Given the description of an element on the screen output the (x, y) to click on. 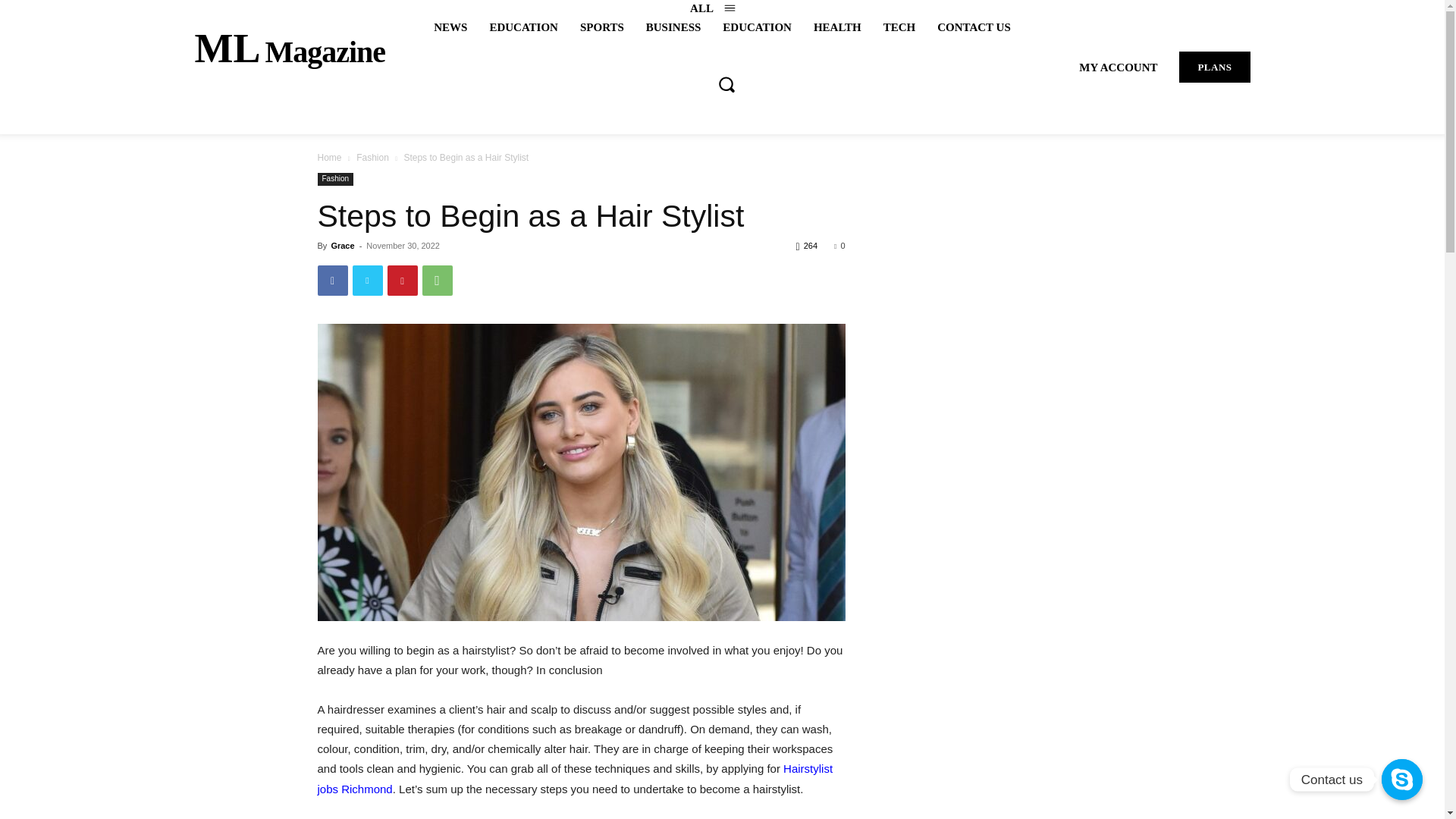
Facebook (332, 280)
NEWS (450, 26)
Twitter (366, 280)
WhatsApp (289, 48)
TECH (436, 280)
SPORTS (899, 26)
Home (601, 26)
CONTACT US (328, 157)
Pinterest (974, 26)
EDUCATION (401, 280)
EDUCATION (756, 26)
View all posts in Fashion (523, 26)
ALL (372, 157)
